Given the description of an element on the screen output the (x, y) to click on. 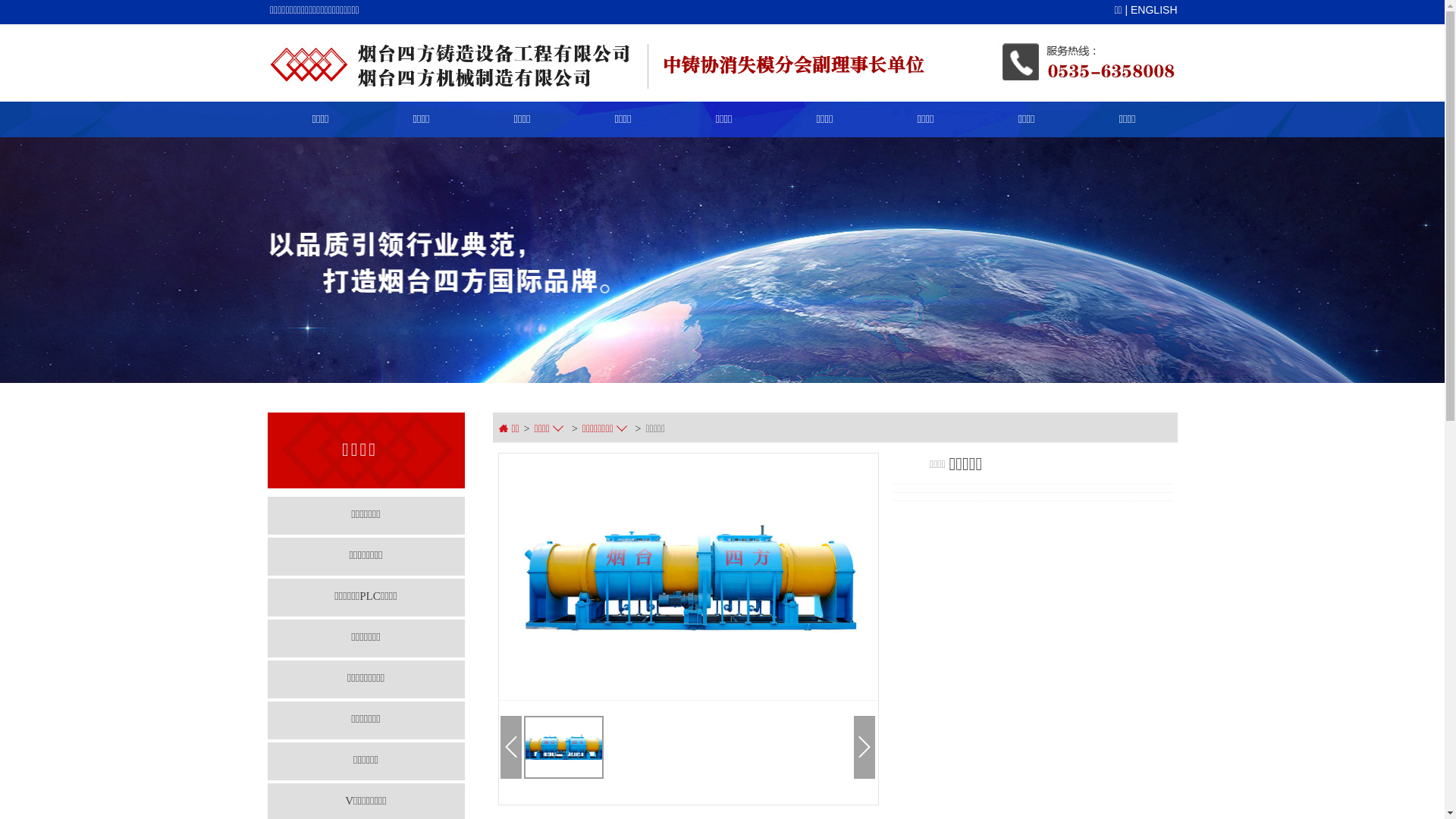
ENGLISH Element type: text (1153, 9)
